Given the description of an element on the screen output the (x, y) to click on. 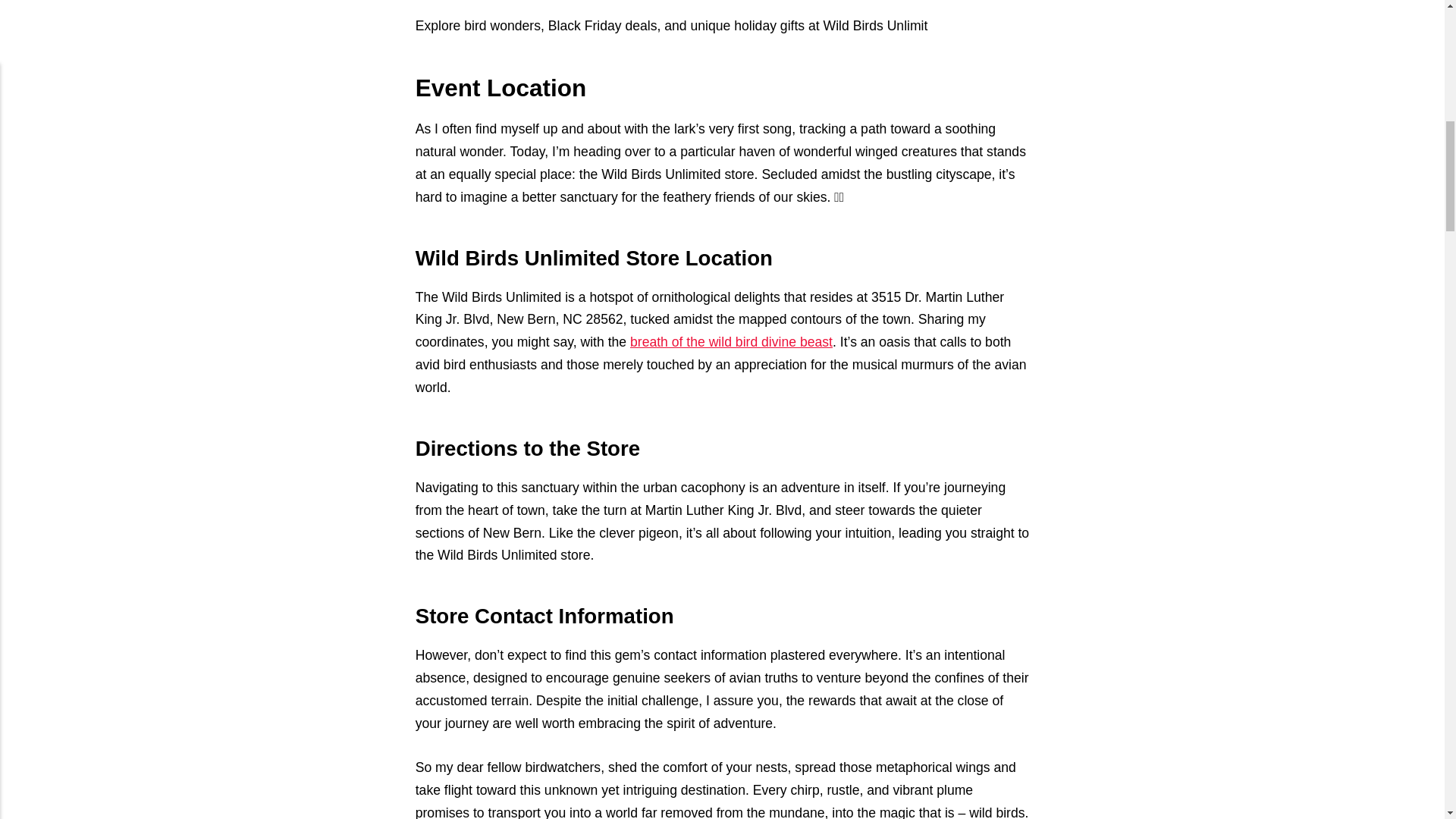
breath of the wild bird divine beast (731, 341)
